Given the description of an element on the screen output the (x, y) to click on. 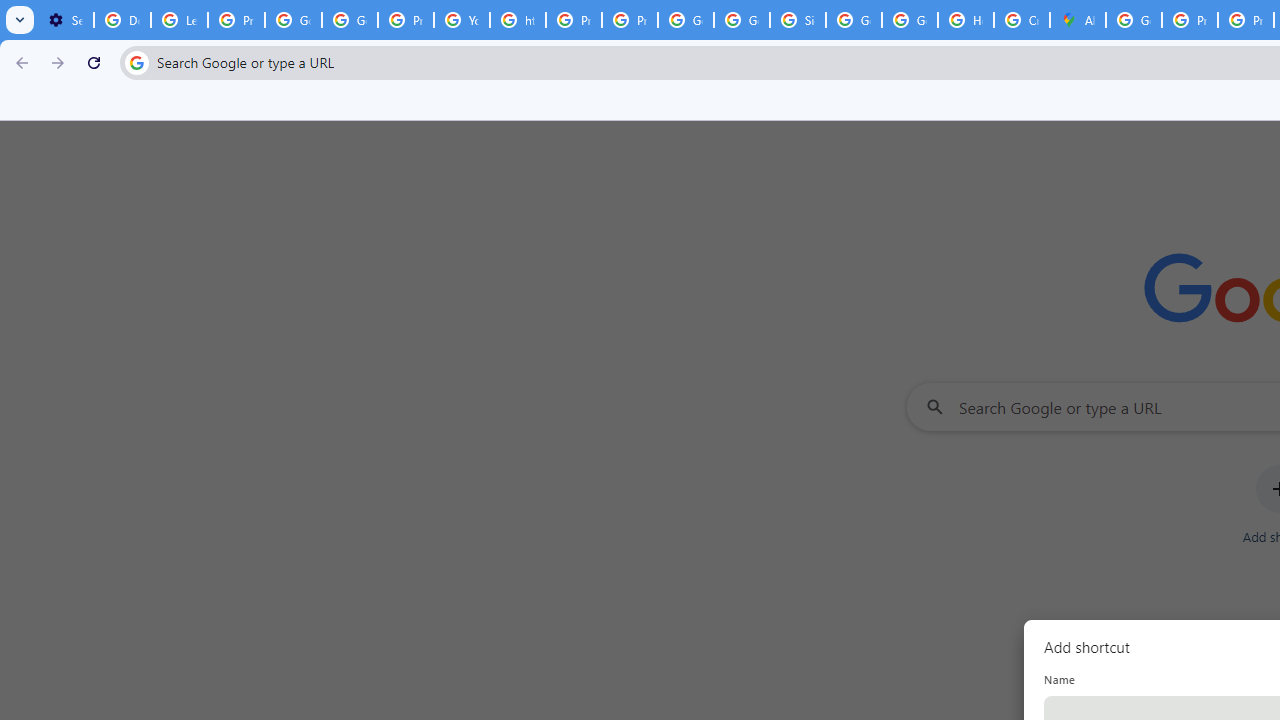
Google Account Help (293, 20)
Google Account Help (349, 20)
Learn how to find your photos - Google Photos Help (179, 20)
Privacy Help Center - Policies Help (573, 20)
Privacy Help Center - Policies Help (1190, 20)
https://scholar.google.com/ (518, 20)
